Given the description of an element on the screen output the (x, y) to click on. 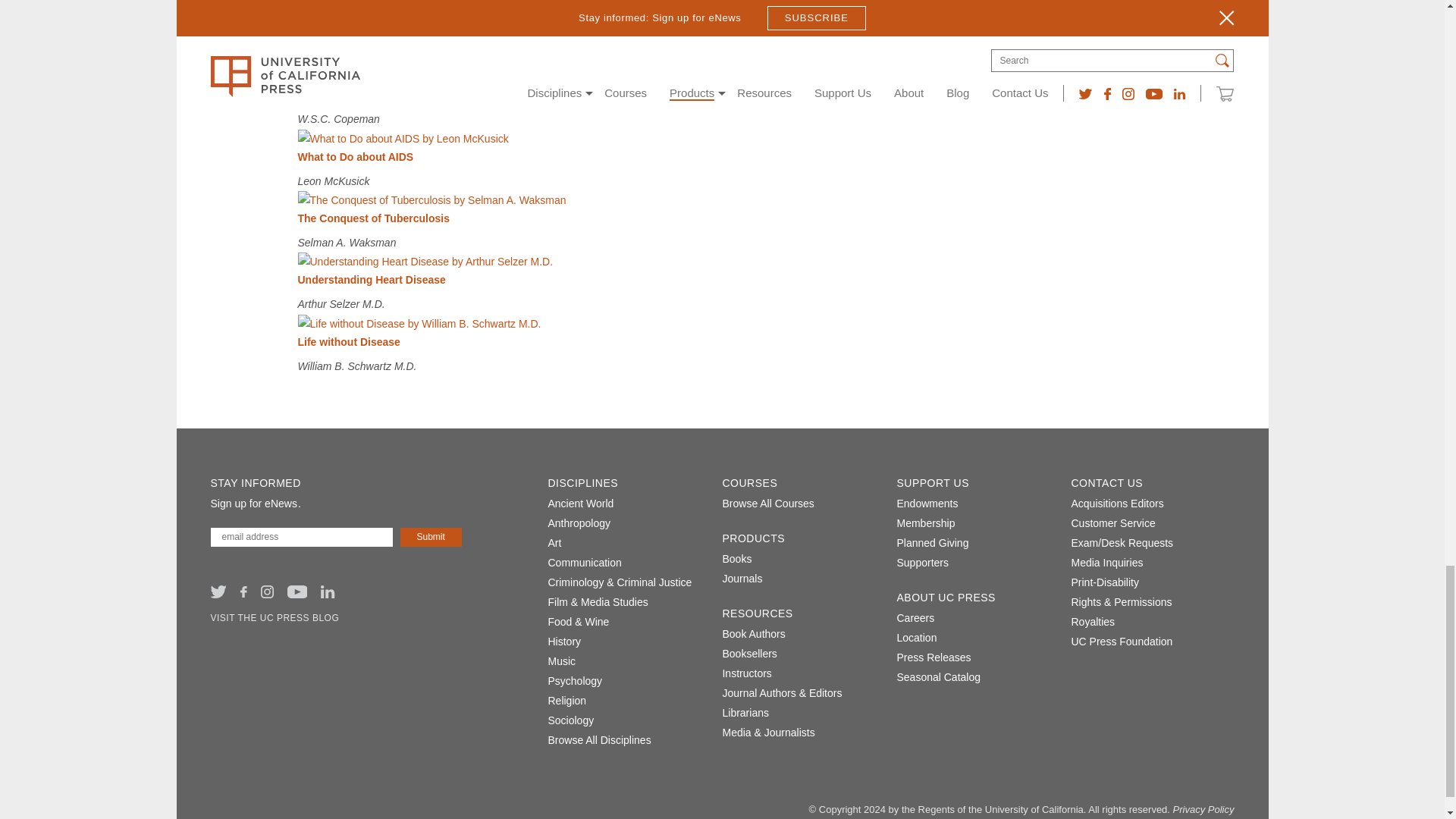
Submit (430, 537)
